Given the description of an element on the screen output the (x, y) to click on. 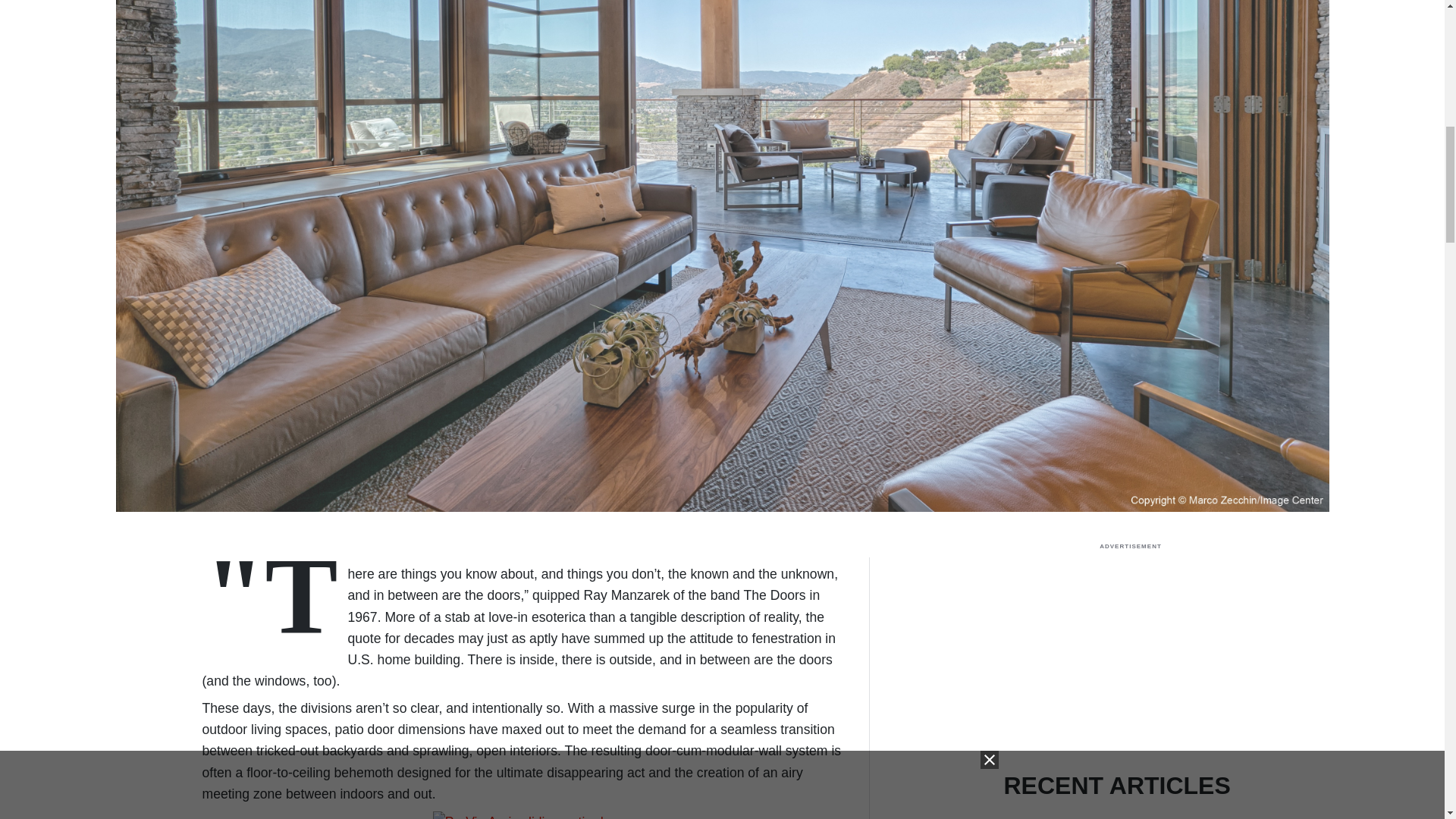
true (1130, 653)
